Given the description of an element on the screen output the (x, y) to click on. 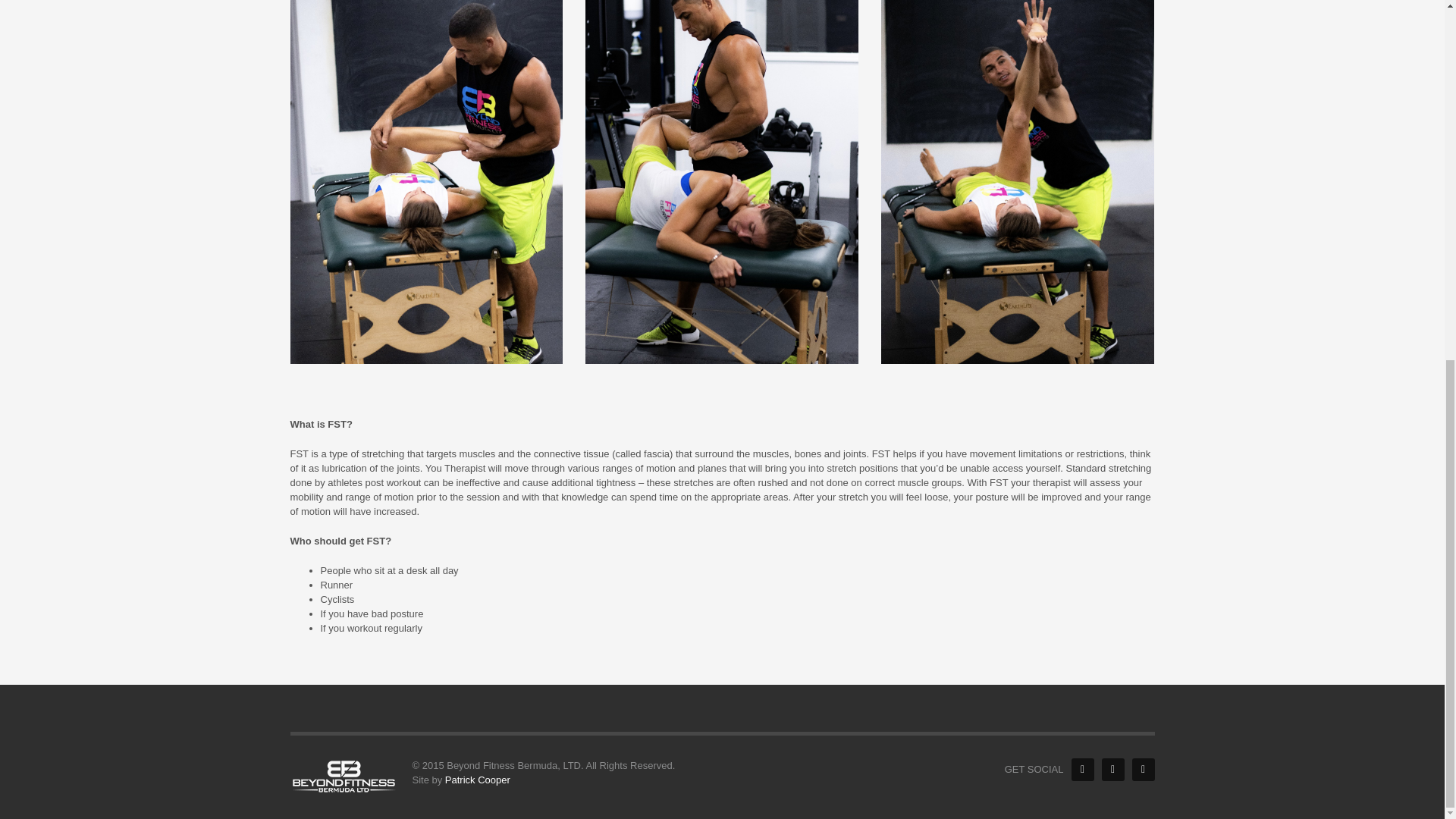
Facebook (1081, 769)
Patrick Cooper (478, 779)
Twitter (1112, 769)
YouTube (1142, 769)
